Given the description of an element on the screen output the (x, y) to click on. 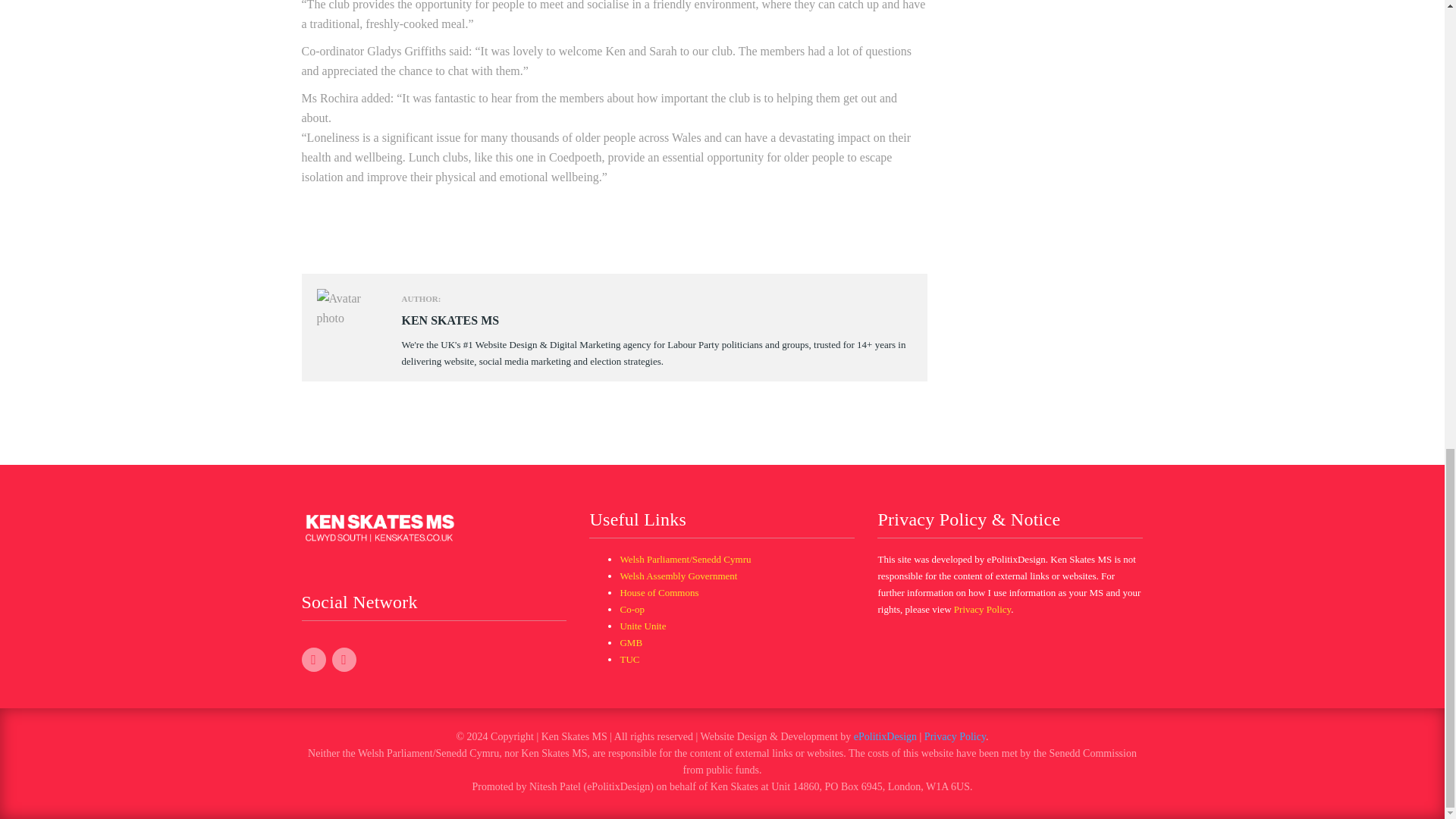
Privacy Policy (954, 736)
Co-op (632, 609)
House of Commons (659, 592)
Unite Unite (642, 625)
GMB (631, 642)
ePolitixDesign (885, 736)
TUC (629, 659)
Privacy Policy (981, 609)
Welsh Assembly Government (678, 575)
